Given the description of an element on the screen output the (x, y) to click on. 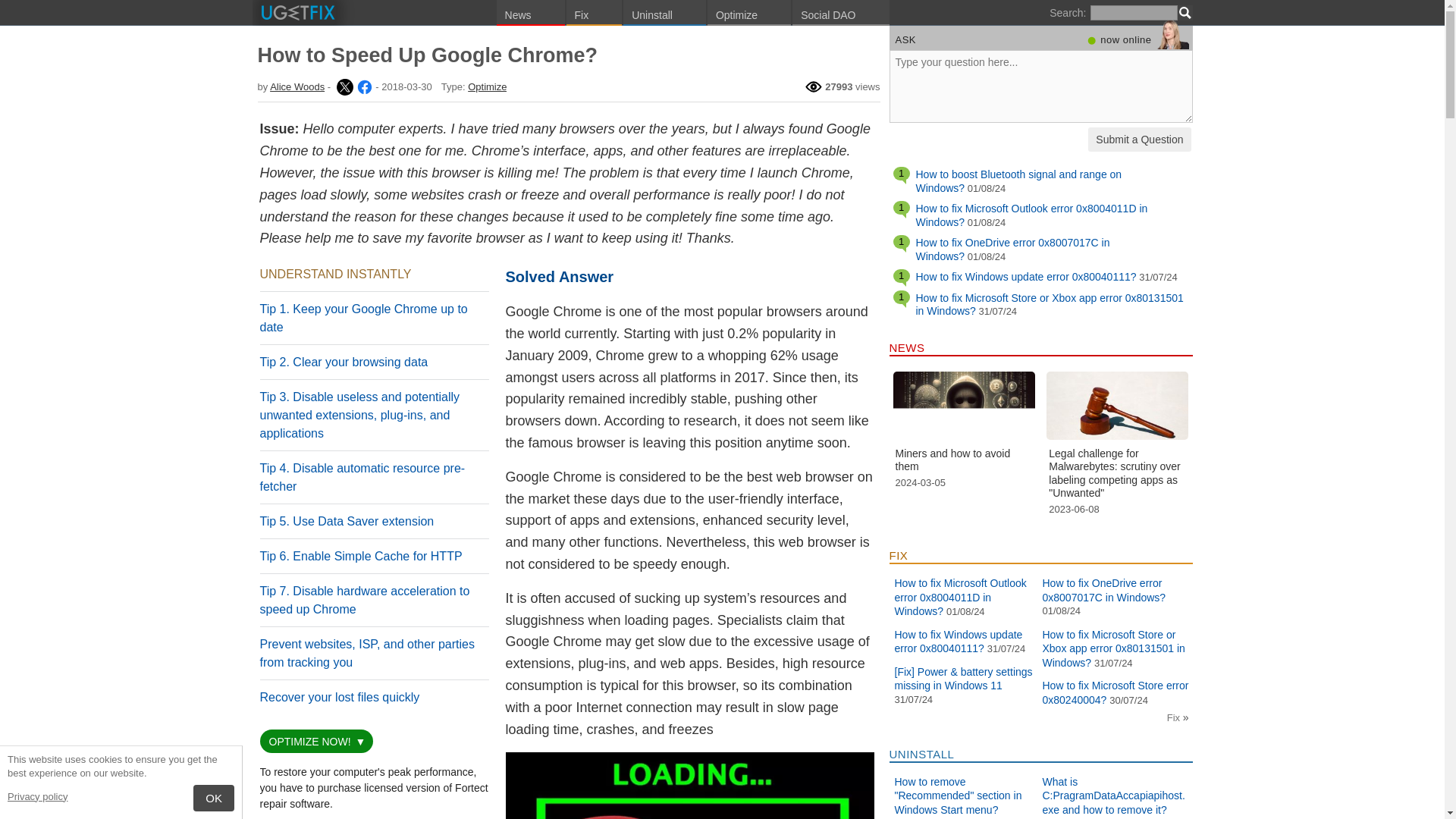
Tip 4. Disable automatic resource pre-fetcher (361, 477)
Alice Woods (343, 86)
OK (213, 797)
Miners and how to avoid them (964, 411)
Google Chrome is slow (689, 785)
Submit a Question (1139, 139)
OPTIMIZE NOW! (308, 741)
Privacy policy (36, 795)
Tip 1. Keep your Google Chrome up to date (363, 317)
Fix (594, 12)
Tip 7. Disable hardware acceleration to speed up Chrome (363, 599)
Tip 2. Clear your browsing data (343, 361)
Tip 5. Use Data Saver extension (346, 521)
Optimize (486, 86)
